Given the description of an element on the screen output the (x, y) to click on. 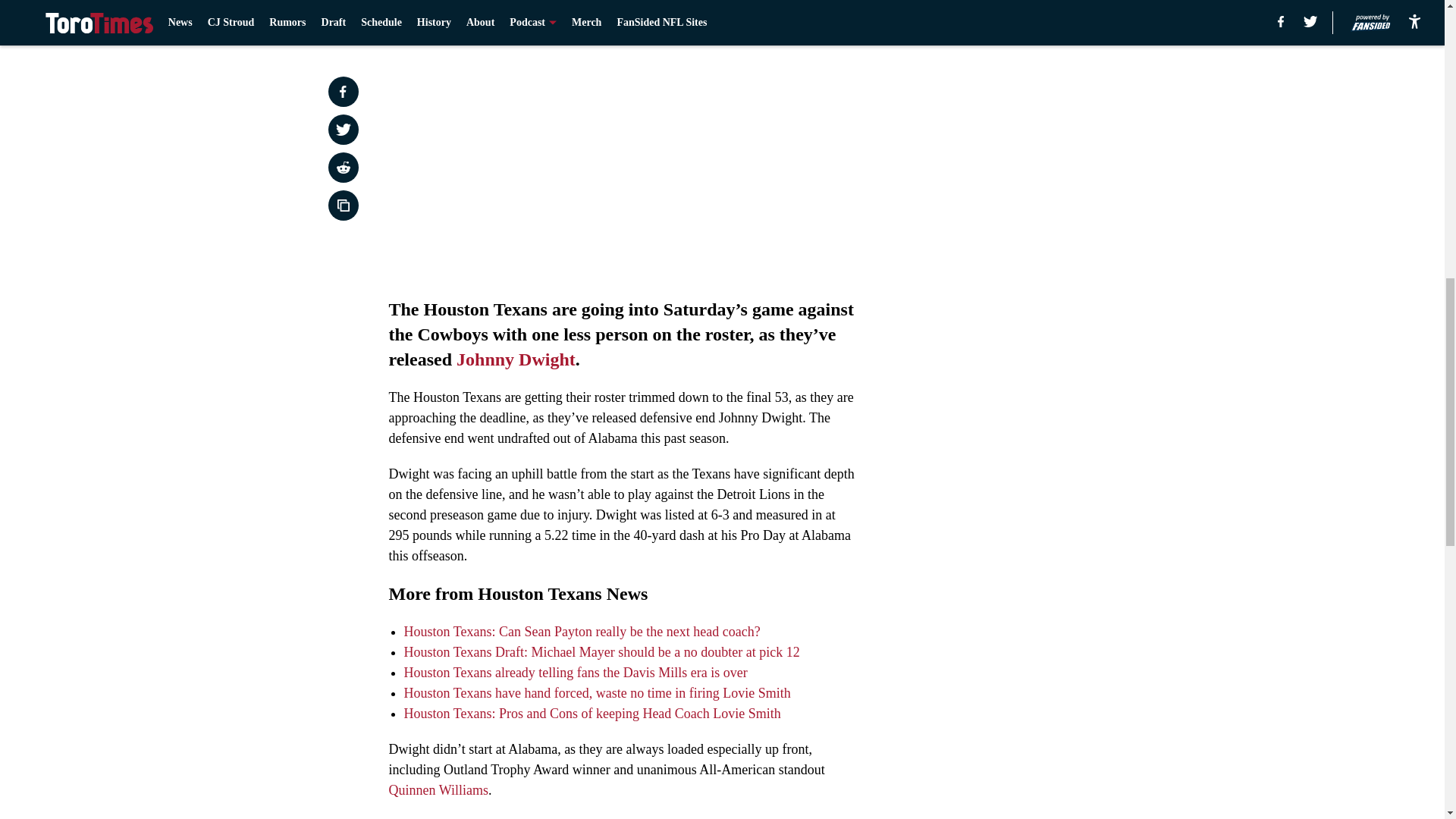
Johnny Dwight (516, 359)
Quinnen Williams (437, 789)
